Given the description of an element on the screen output the (x, y) to click on. 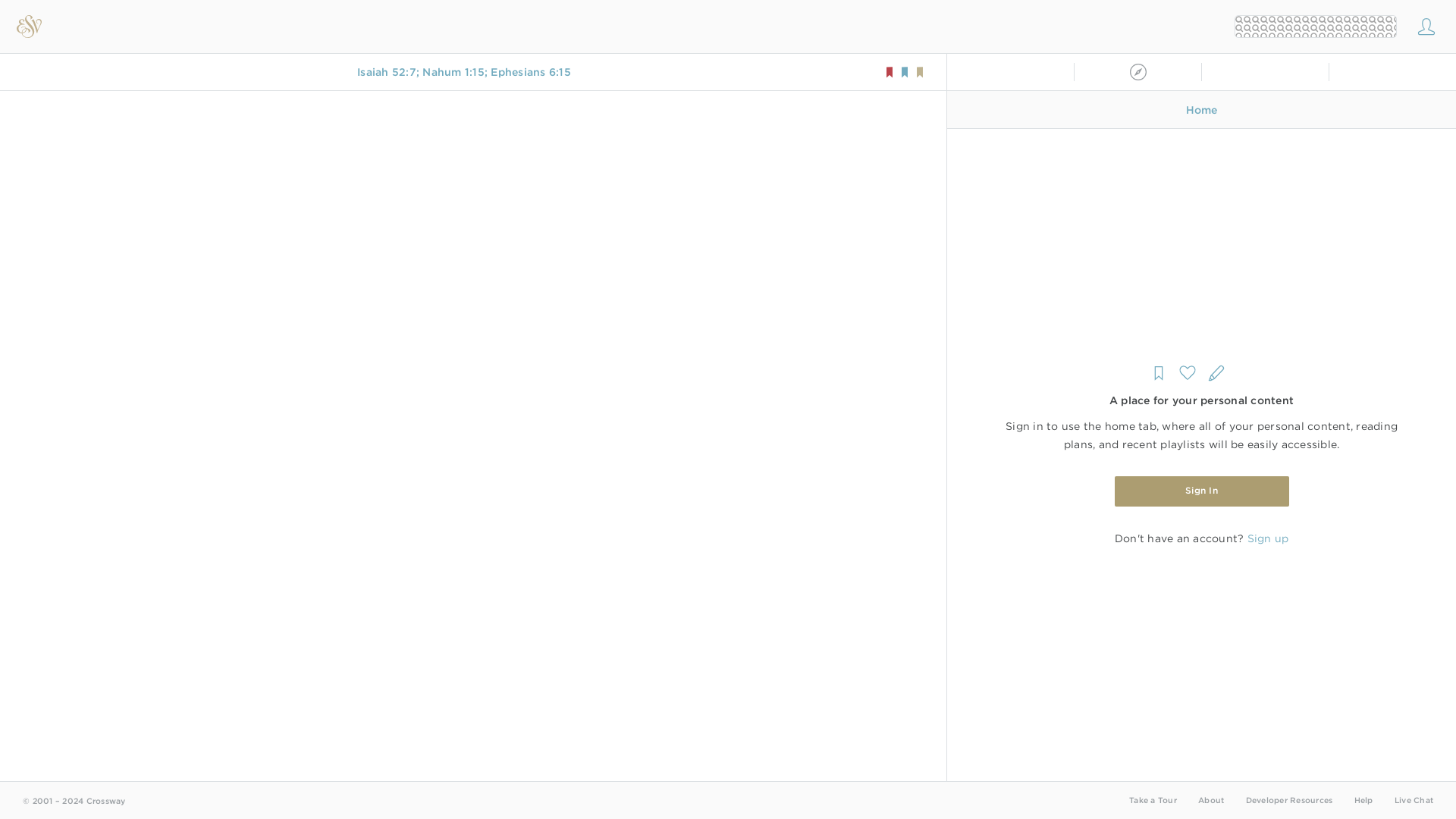
Sign up (1267, 538)
Isaiah 52:7; Nahum 1:15; Ephesians 6:15 (463, 71)
Take a Tour (1152, 800)
About (1211, 800)
Help (1363, 800)
Sign In (1201, 490)
Live Chat (1413, 800)
Developer Resources (1288, 800)
